Given the description of an element on the screen output the (x, y) to click on. 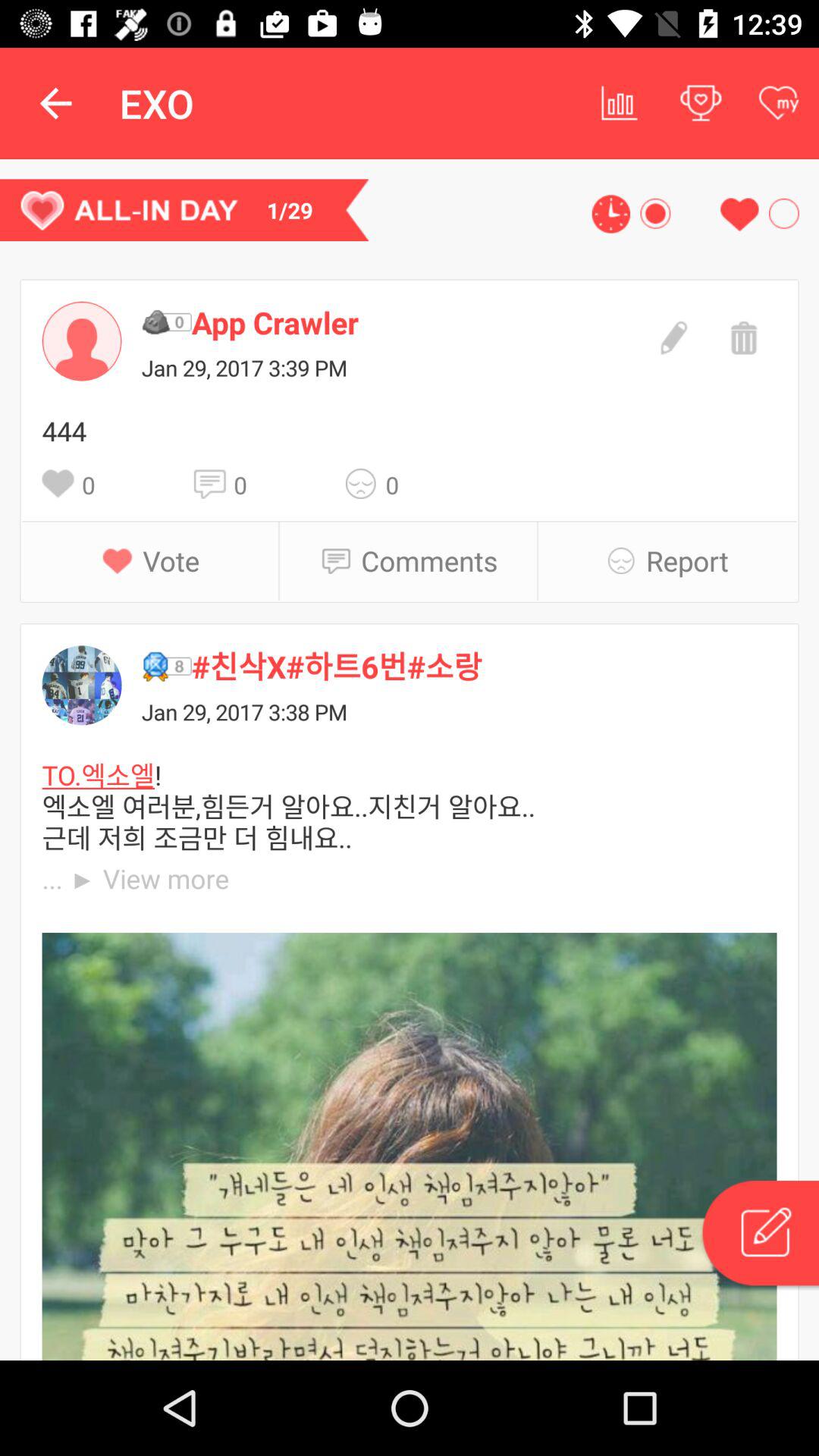
edit (671, 336)
